Given the description of an element on the screen output the (x, y) to click on. 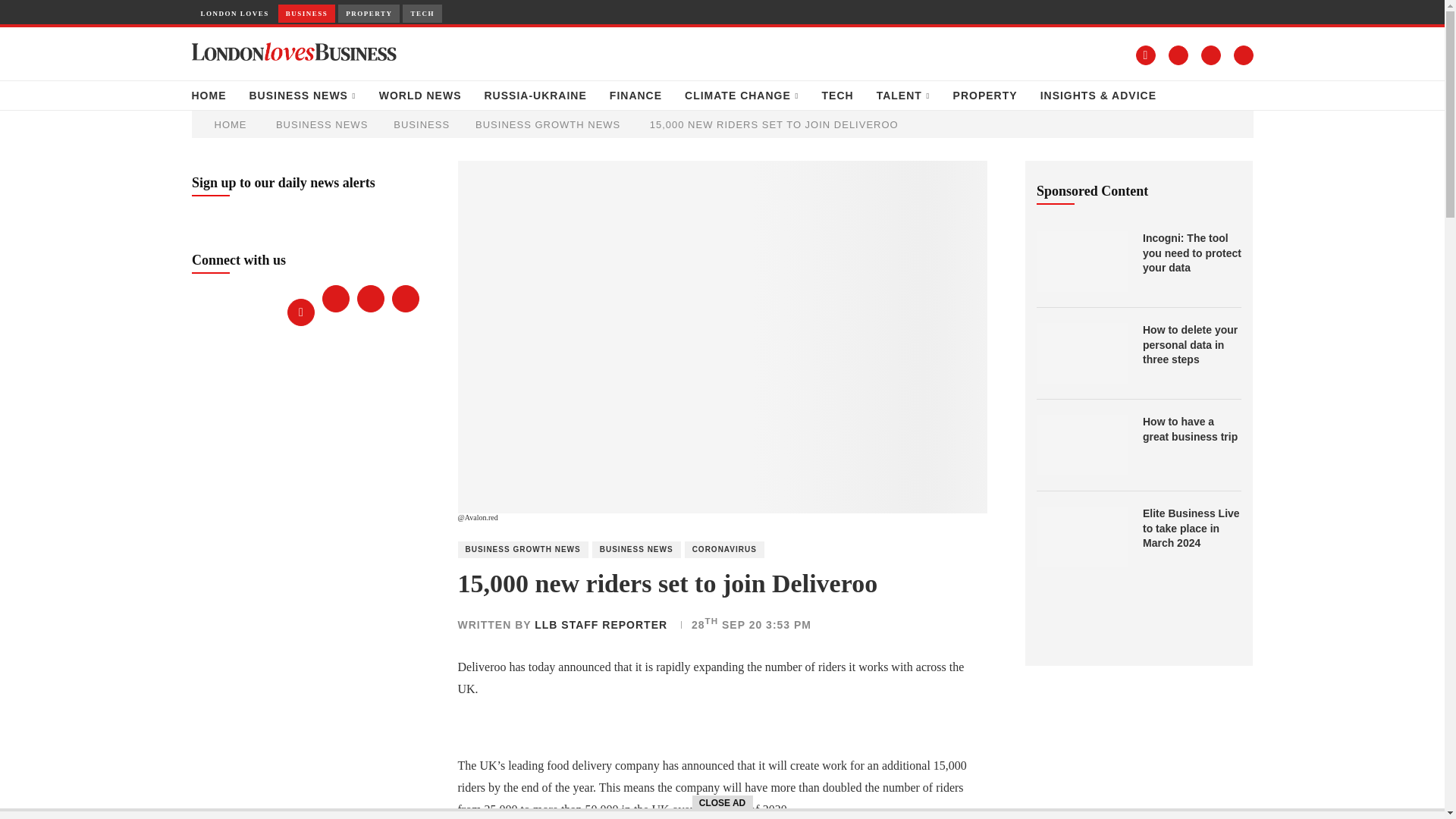
Incogni: The tool you need to protect your data (1081, 260)
Incogni: The tool you need to protect your data (1191, 253)
How to delete your personal data in three steps (1081, 353)
